Given the description of an element on the screen output the (x, y) to click on. 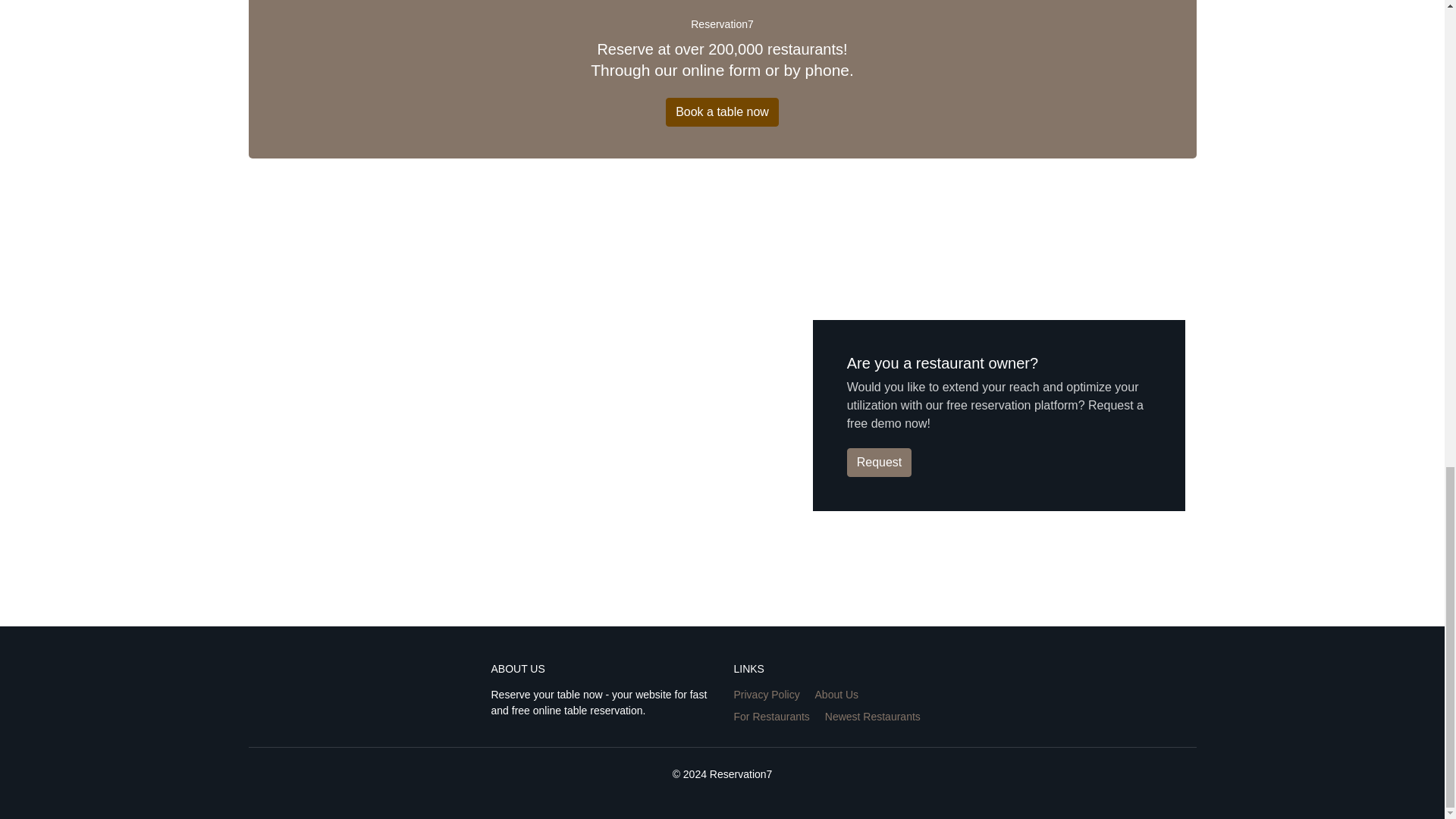
Privacy Policy (766, 694)
Request (879, 461)
Book a table now (721, 111)
